Given the description of an element on the screen output the (x, y) to click on. 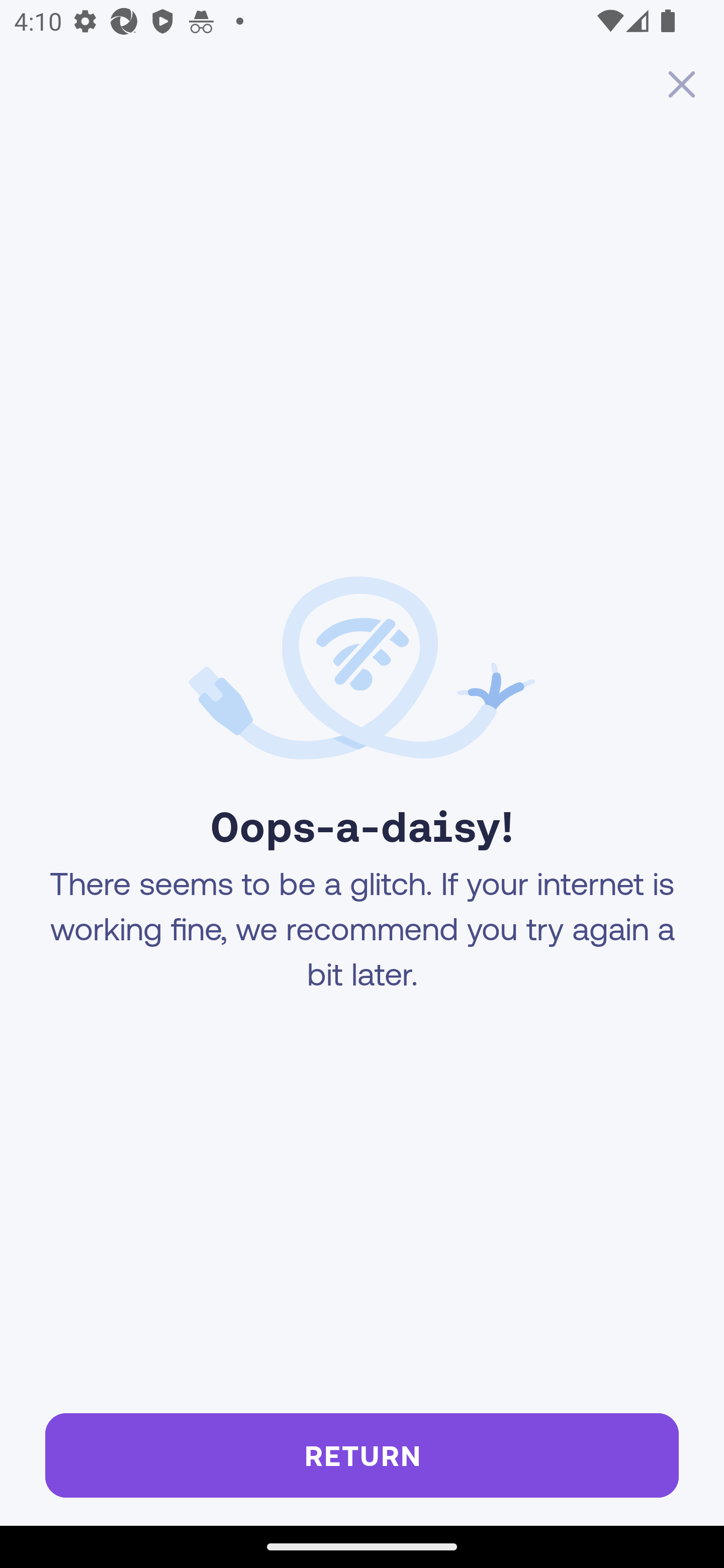
RETURN (361, 1454)
